Given the description of an element on the screen output the (x, y) to click on. 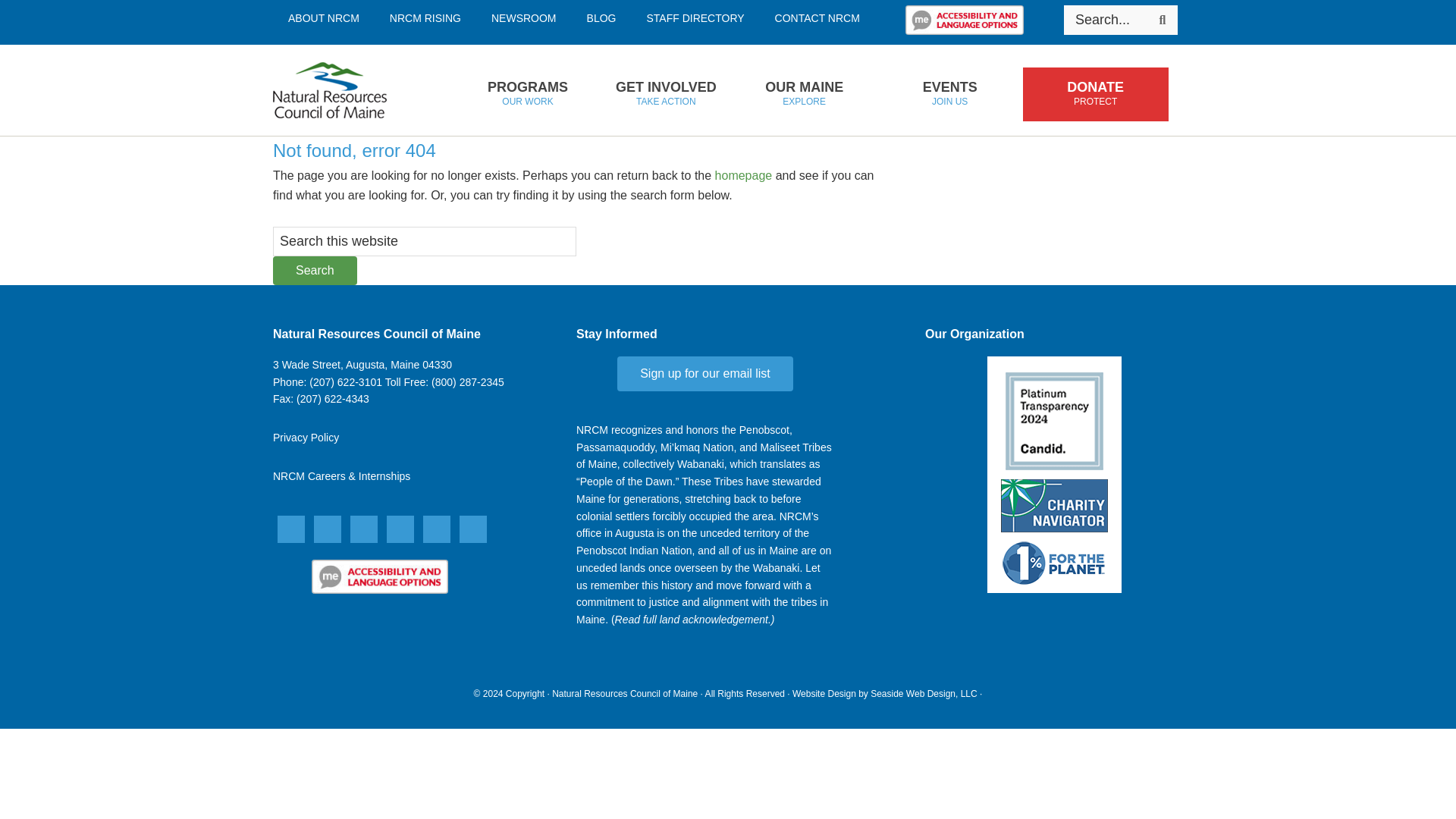
Natural Resources Council of Maine (354, 90)
NEWSROOM (524, 18)
Contact Us (362, 364)
NRCM RISING (425, 18)
Search (1162, 19)
Search (526, 94)
ABOUT NRCM (314, 270)
STAFF DIRECTORY (323, 18)
Skip to primary navigation (694, 18)
CONTACT NRCM (601, 18)
Search (817, 18)
